Given the description of an element on the screen output the (x, y) to click on. 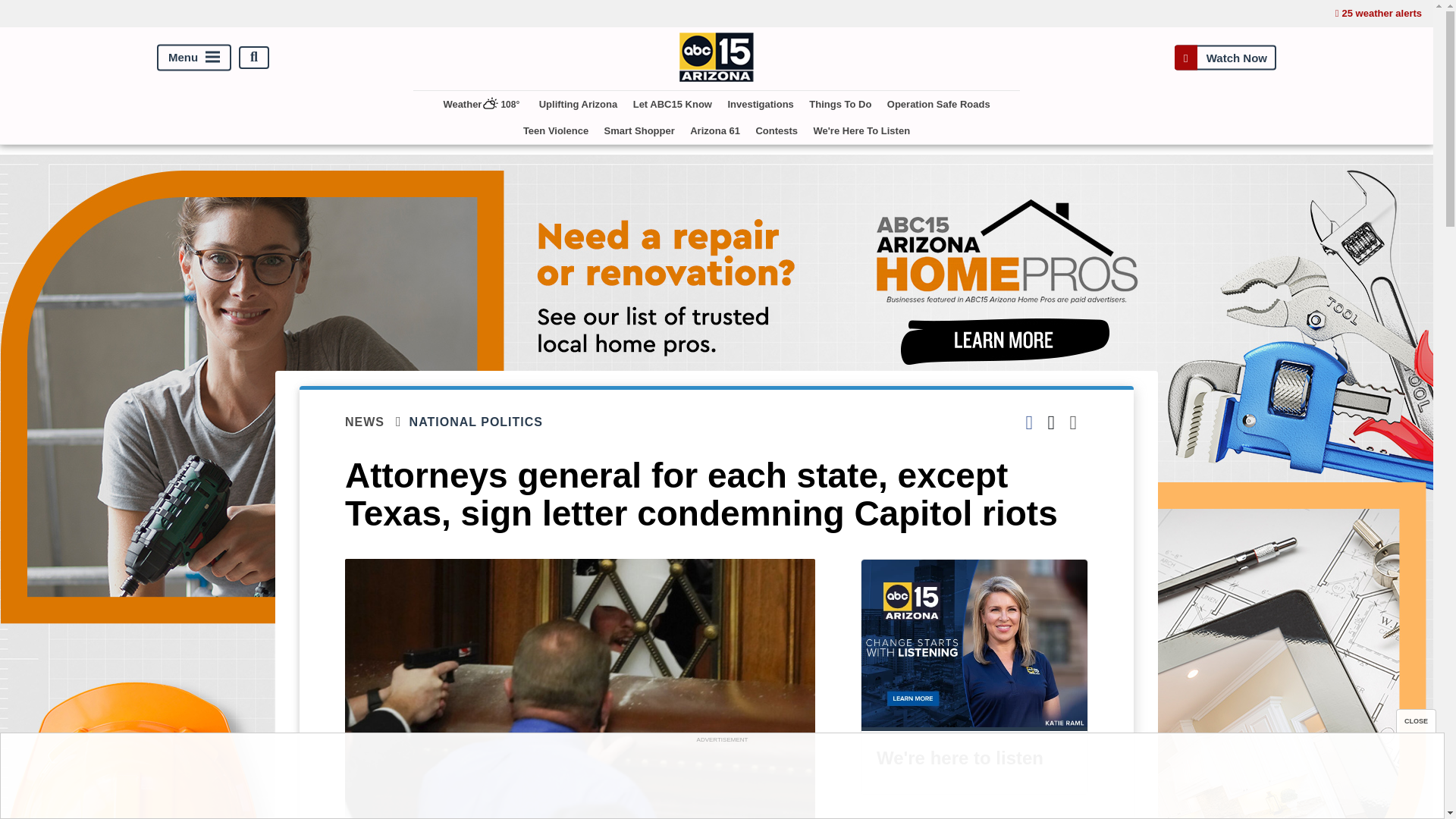
Watch Now (1224, 56)
3rd party ad content (721, 780)
Menu (194, 57)
